Given the description of an element on the screen output the (x, y) to click on. 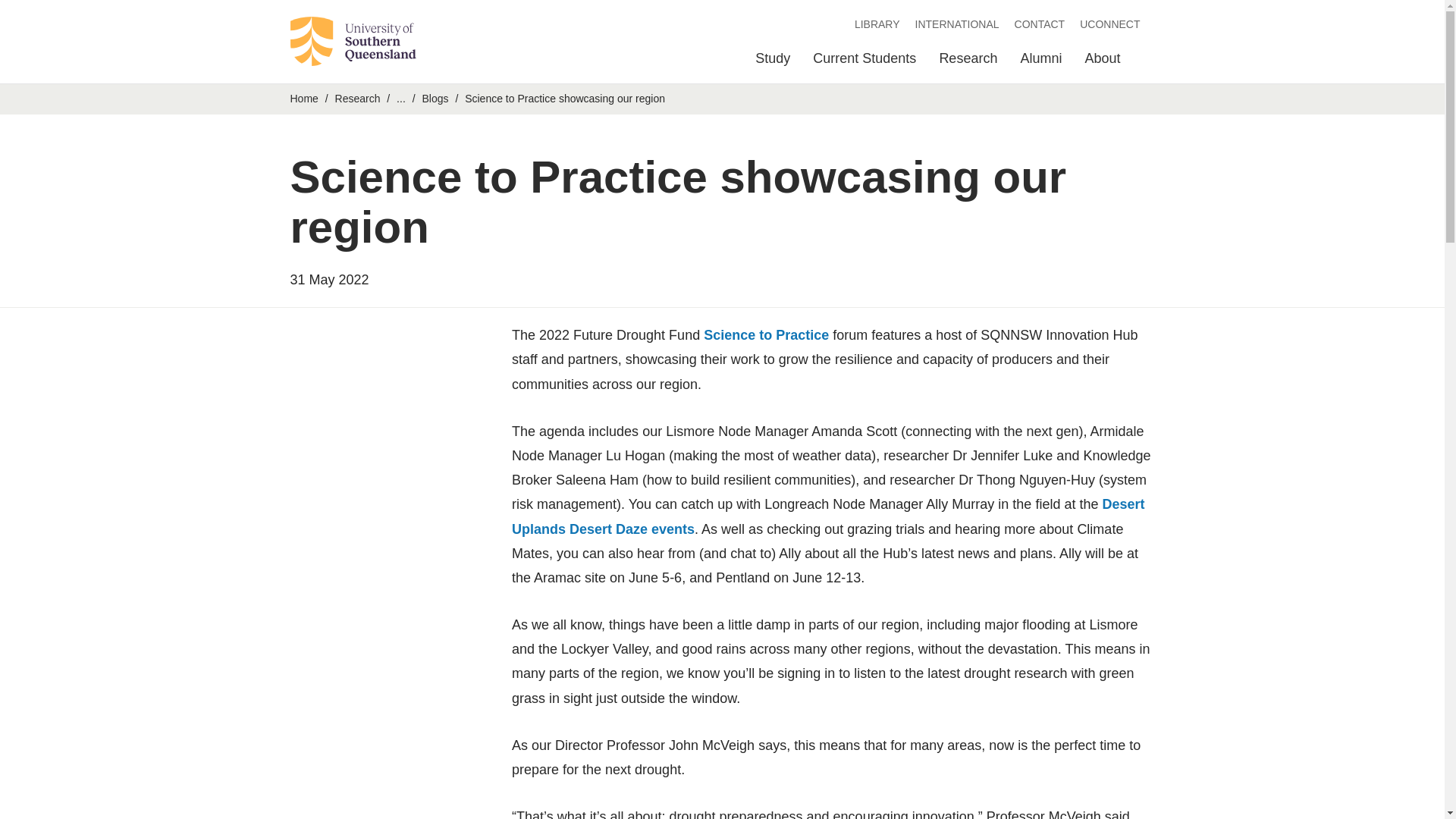
Study (773, 62)
Research (968, 62)
Current Students (864, 62)
